Given the description of an element on the screen output the (x, y) to click on. 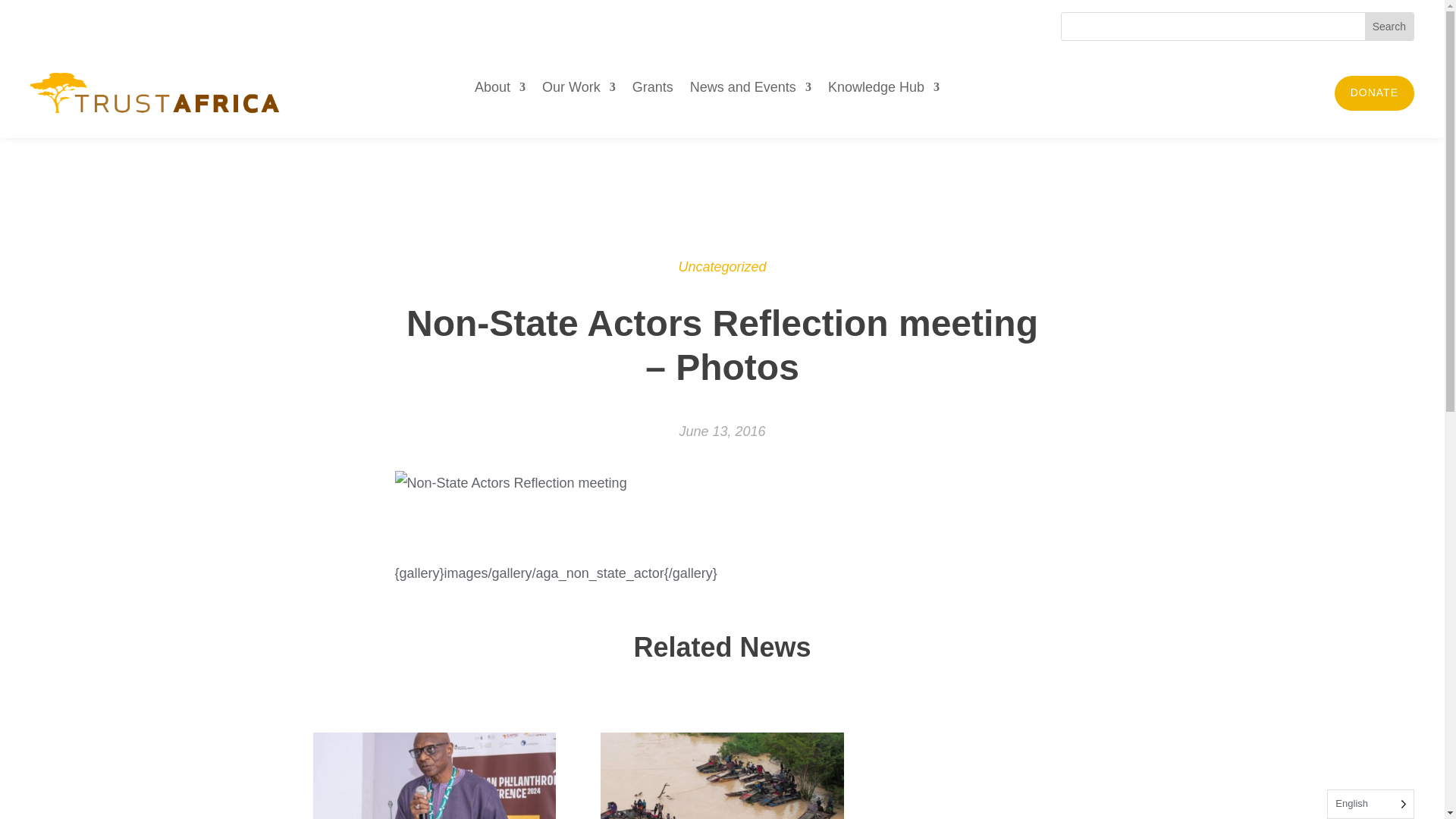
Search (1389, 26)
Search (1389, 26)
Search (1389, 26)
DONATE (1374, 93)
About (499, 89)
Grants (651, 89)
Our Work (578, 89)
Knowledge Hub (883, 89)
News and Events (750, 89)
